Given the description of an element on the screen output the (x, y) to click on. 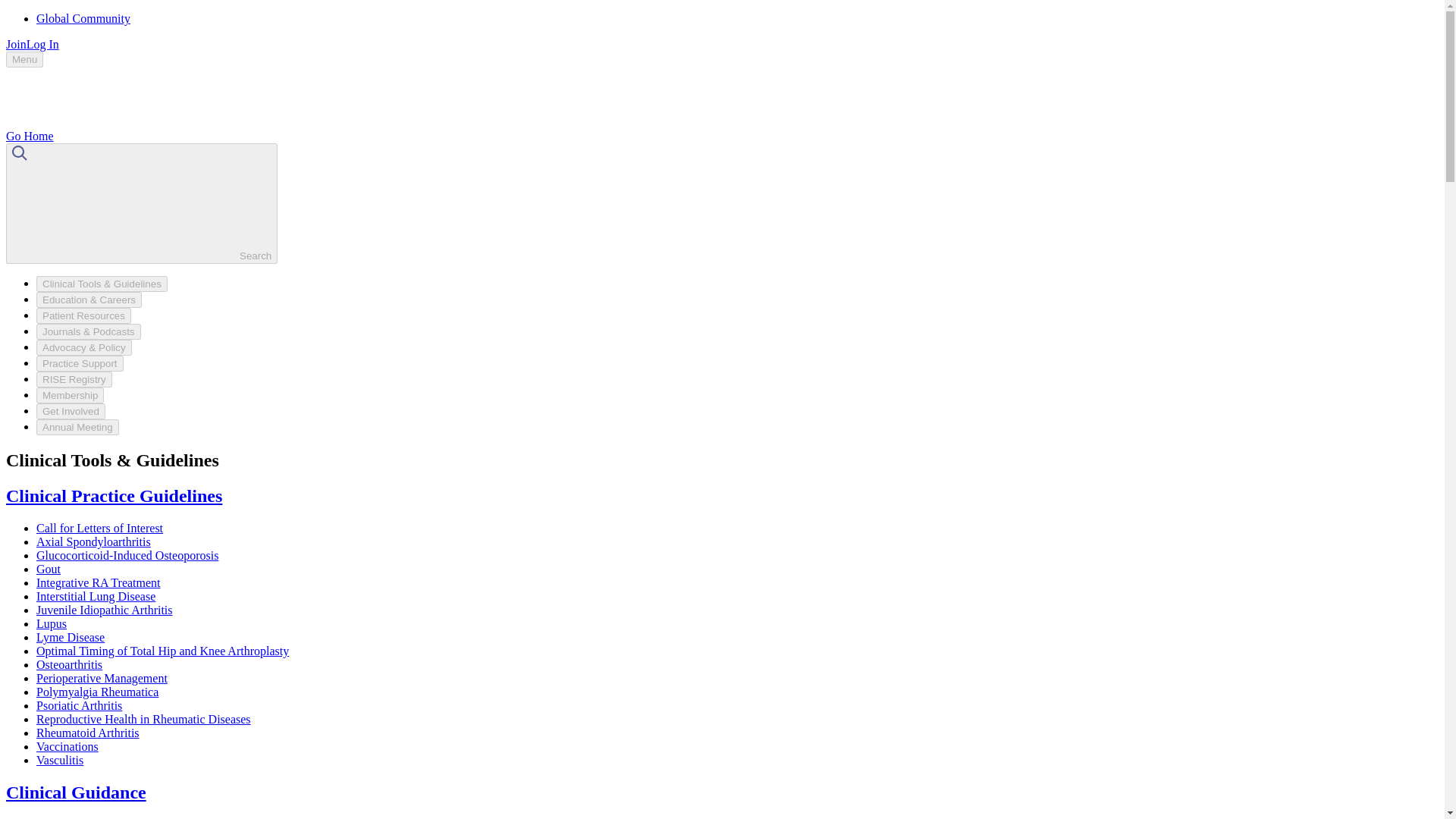
Vasculitis (59, 759)
Axial Spondyloarthritis (93, 541)
Vaccinations (67, 746)
Osteoarthritis (68, 664)
Search (141, 203)
Clinical Guidance (76, 792)
Polymyalgia Rheumatica (97, 691)
Rheumatoid Arthritis (87, 732)
Perioperative Management (101, 677)
